Given the description of an element on the screen output the (x, y) to click on. 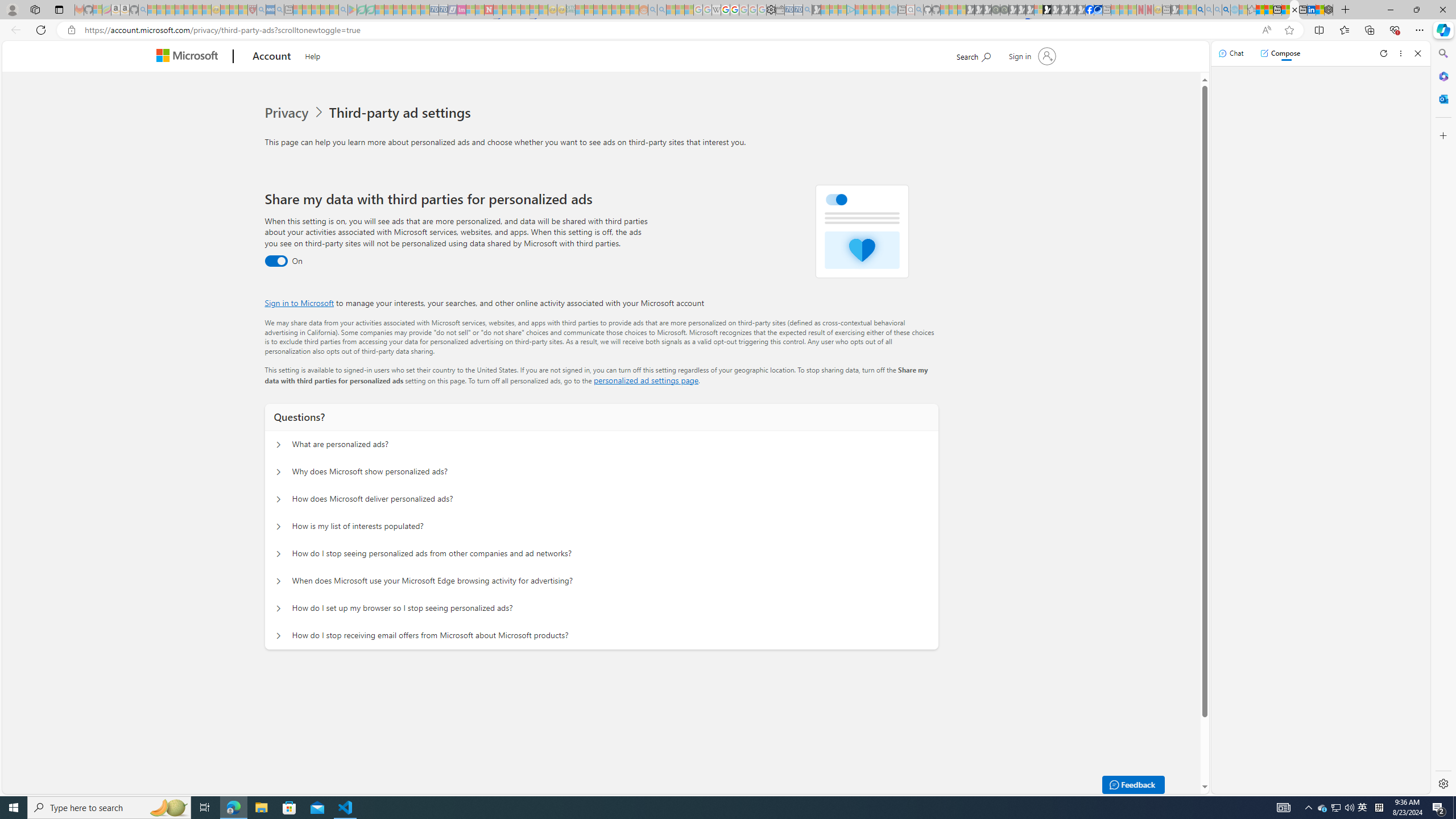
Nordace | Facebook (1089, 9)
Future Focus Report 2024 - Sleeping (1004, 9)
Questions? Why does Microsoft show personalized ads? (278, 472)
